Given the description of an element on the screen output the (x, y) to click on. 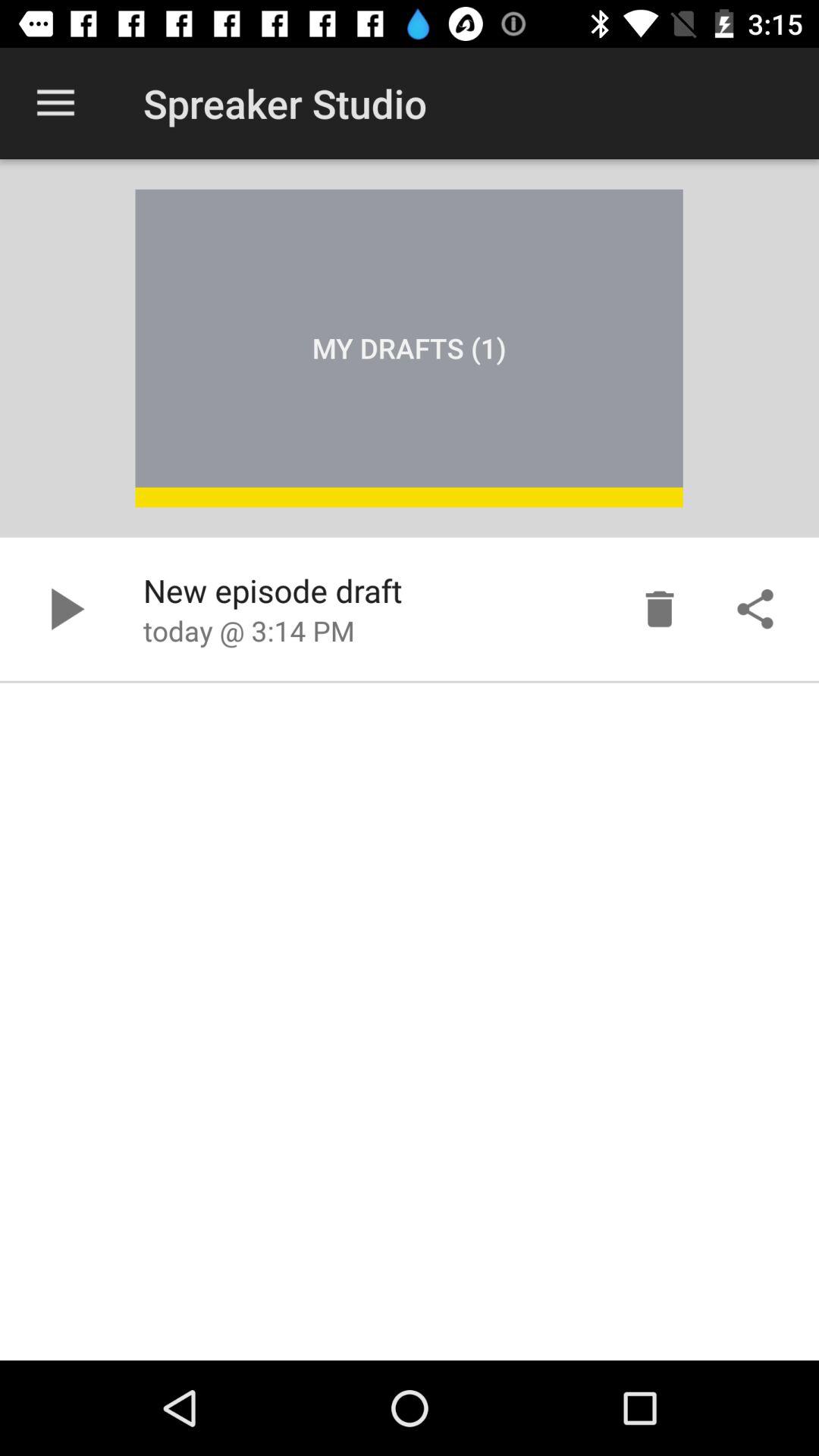
share (755, 608)
